Given the description of an element on the screen output the (x, y) to click on. 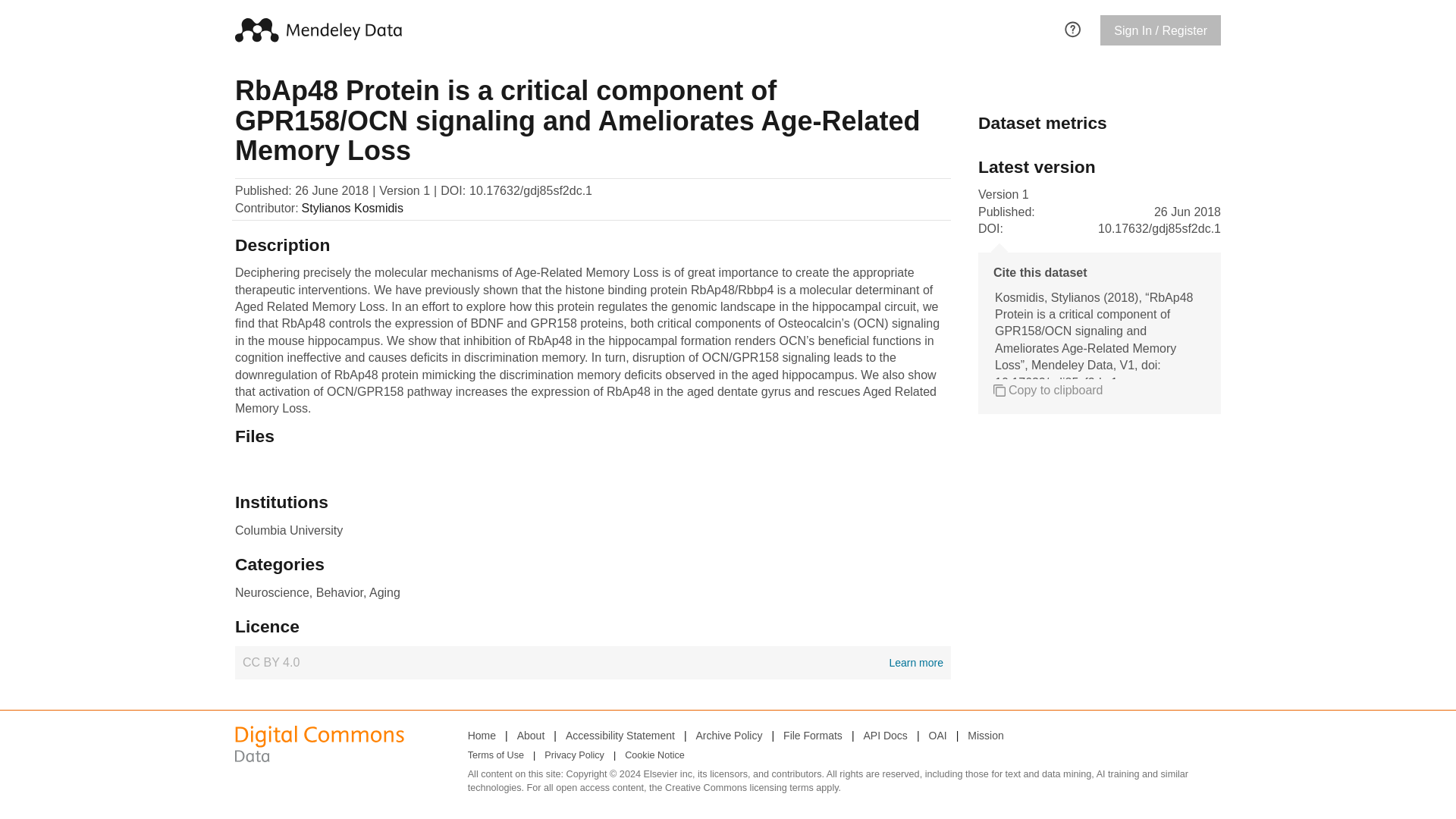
Terms of Use (495, 755)
Privacy Policy (574, 755)
API Docs (592, 662)
About (885, 735)
Copy to clipboard (530, 735)
Accessibility Statement (1047, 390)
Cookie Notice (620, 735)
Home (654, 755)
Archive Policy (481, 735)
File Formats (728, 735)
Mission (813, 735)
OAI (985, 735)
FAQ (937, 735)
